Given the description of an element on the screen output the (x, y) to click on. 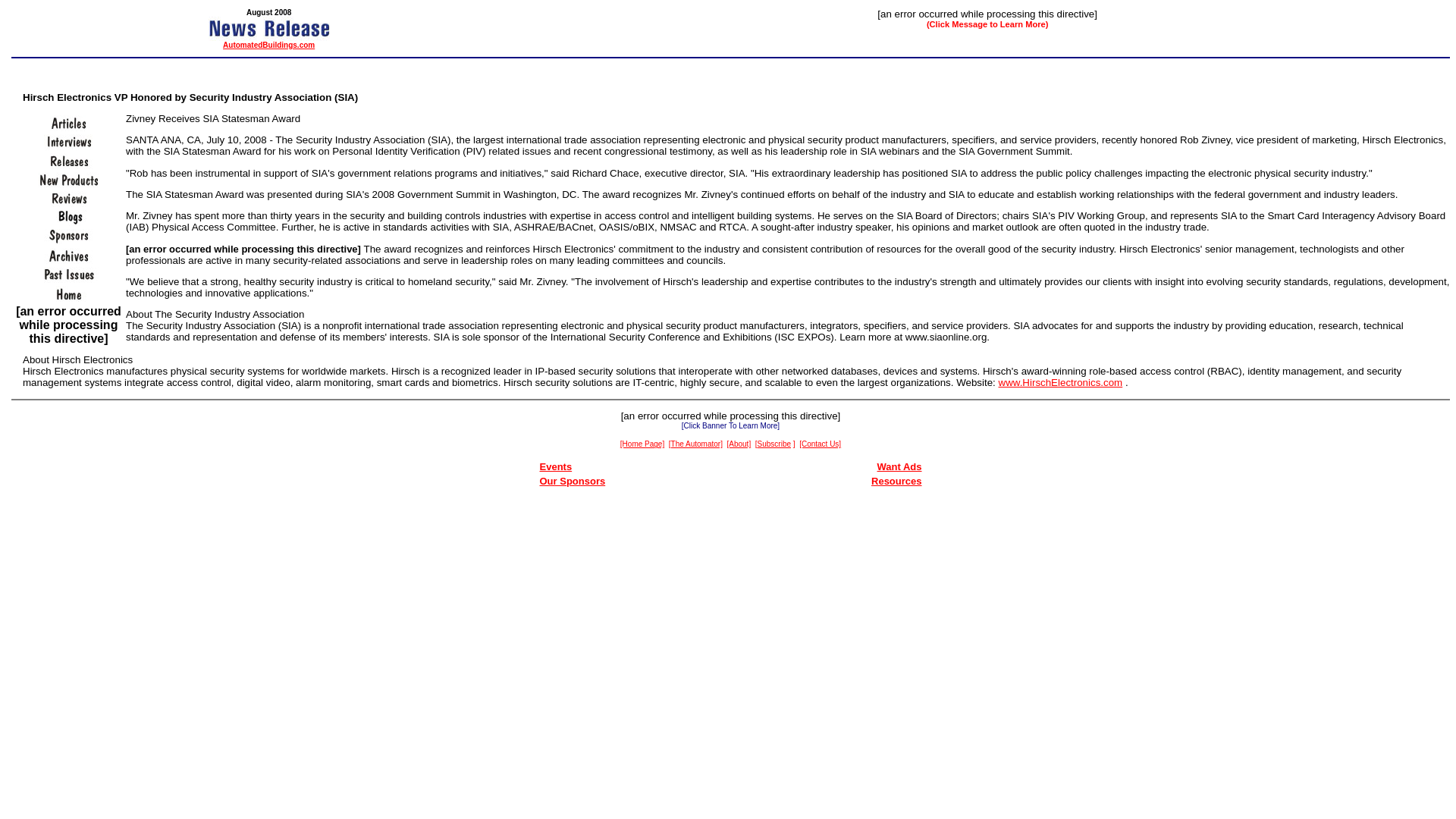
Subscribe (773, 442)
Resources (895, 480)
www.HirschElectronics.com (1060, 382)
AutomatedBuildings.com (268, 44)
Events (556, 466)
Advertisement (730, 528)
Our Sponsors (572, 480)
Want Ads (899, 466)
